Given the description of an element on the screen output the (x, y) to click on. 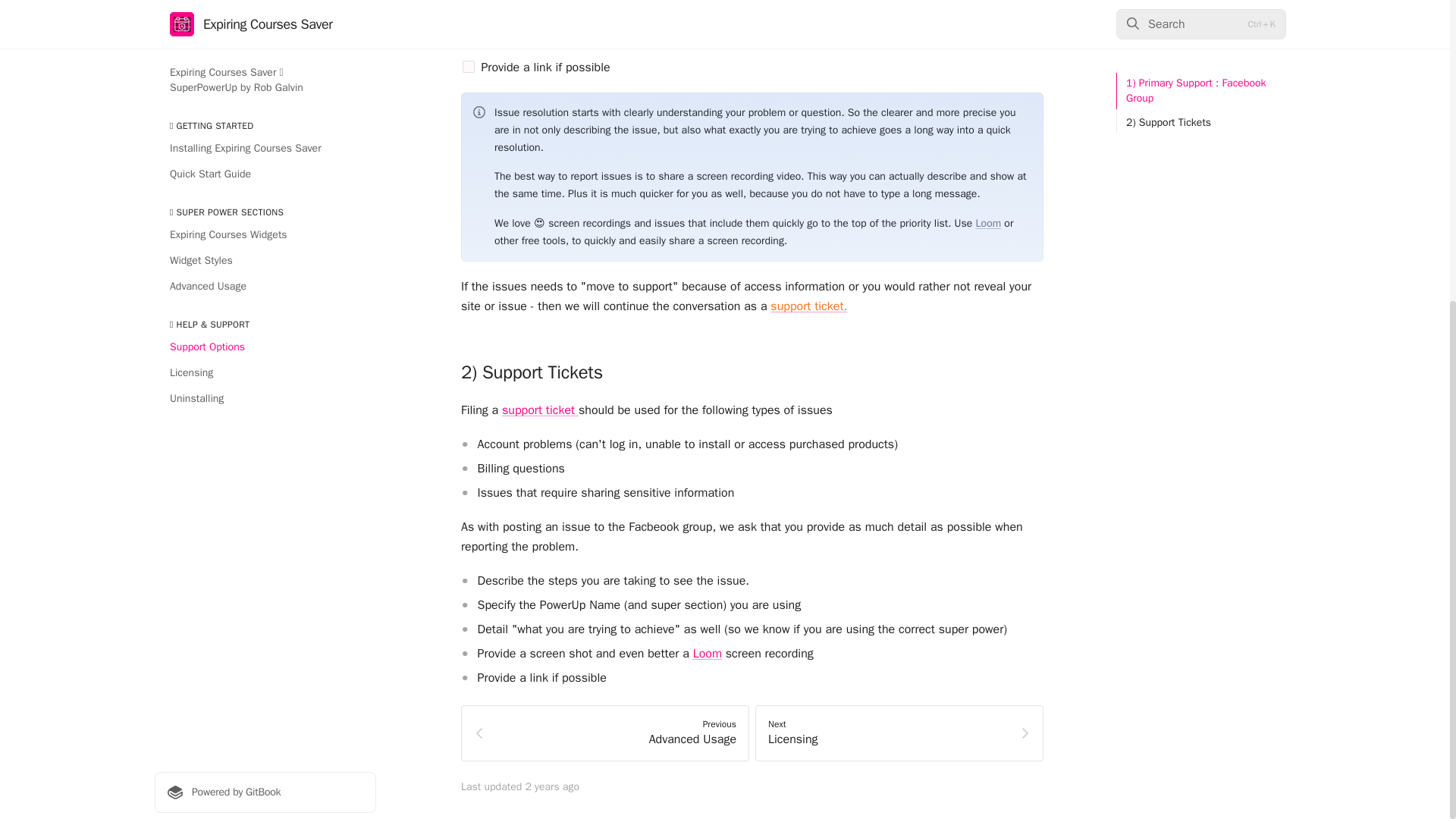
Loom (710, 41)
on (468, 66)
Loom (899, 733)
on (988, 223)
support ticket. (468, 40)
on (808, 305)
support ticket  (605, 733)
Loom (468, 15)
